Given the description of an element on the screen output the (x, y) to click on. 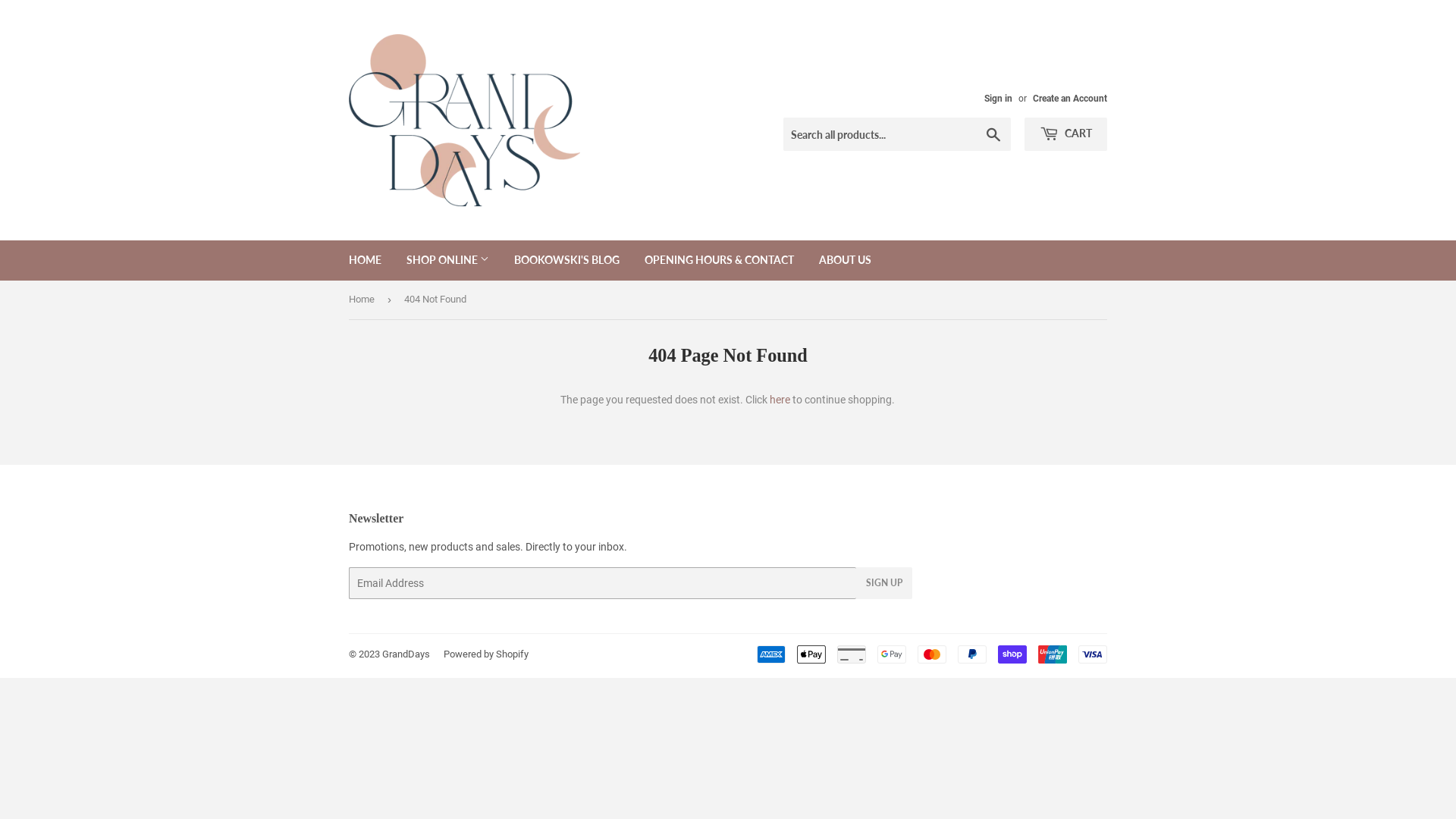
here Element type: text (779, 399)
SHOP ONLINE Element type: text (447, 259)
Create an Account Element type: text (1069, 98)
HOME Element type: text (364, 259)
Home Element type: text (363, 299)
GrandDays Element type: text (405, 652)
Sign in Element type: text (998, 98)
ABOUT US Element type: text (844, 259)
SIGN UP Element type: text (883, 583)
Powered by Shopify Element type: text (485, 652)
Search Element type: text (993, 134)
BOOKOWSKI'S BLOG Element type: text (566, 259)
OPENING HOURS & CONTACT Element type: text (719, 259)
CART Element type: text (1065, 133)
